Given the description of an element on the screen output the (x, y) to click on. 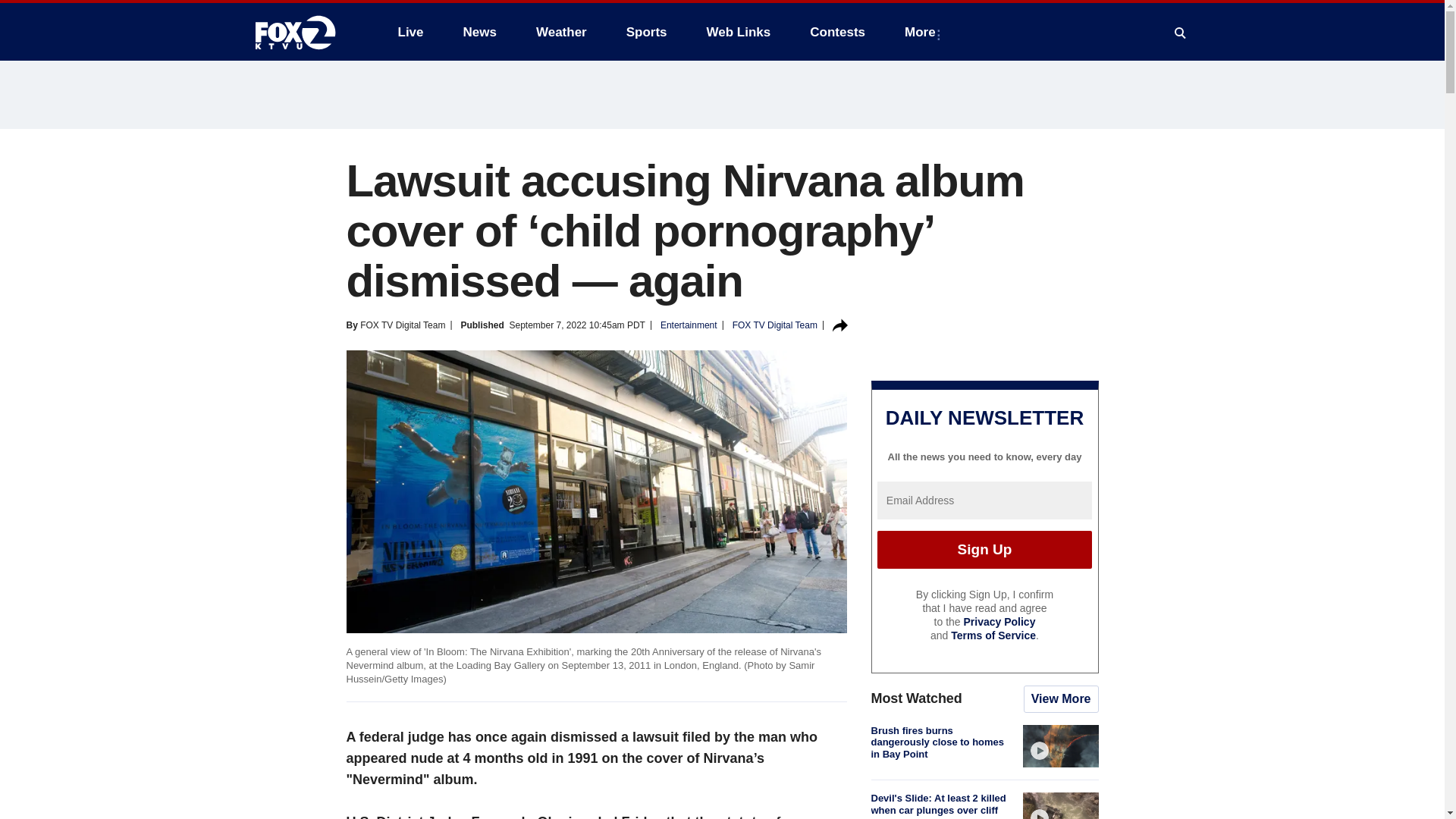
Web Links (738, 32)
Contests (837, 32)
Sports (646, 32)
More (922, 32)
Sign Up (984, 549)
Weather (561, 32)
Live (410, 32)
News (479, 32)
